Given the description of an element on the screen output the (x, y) to click on. 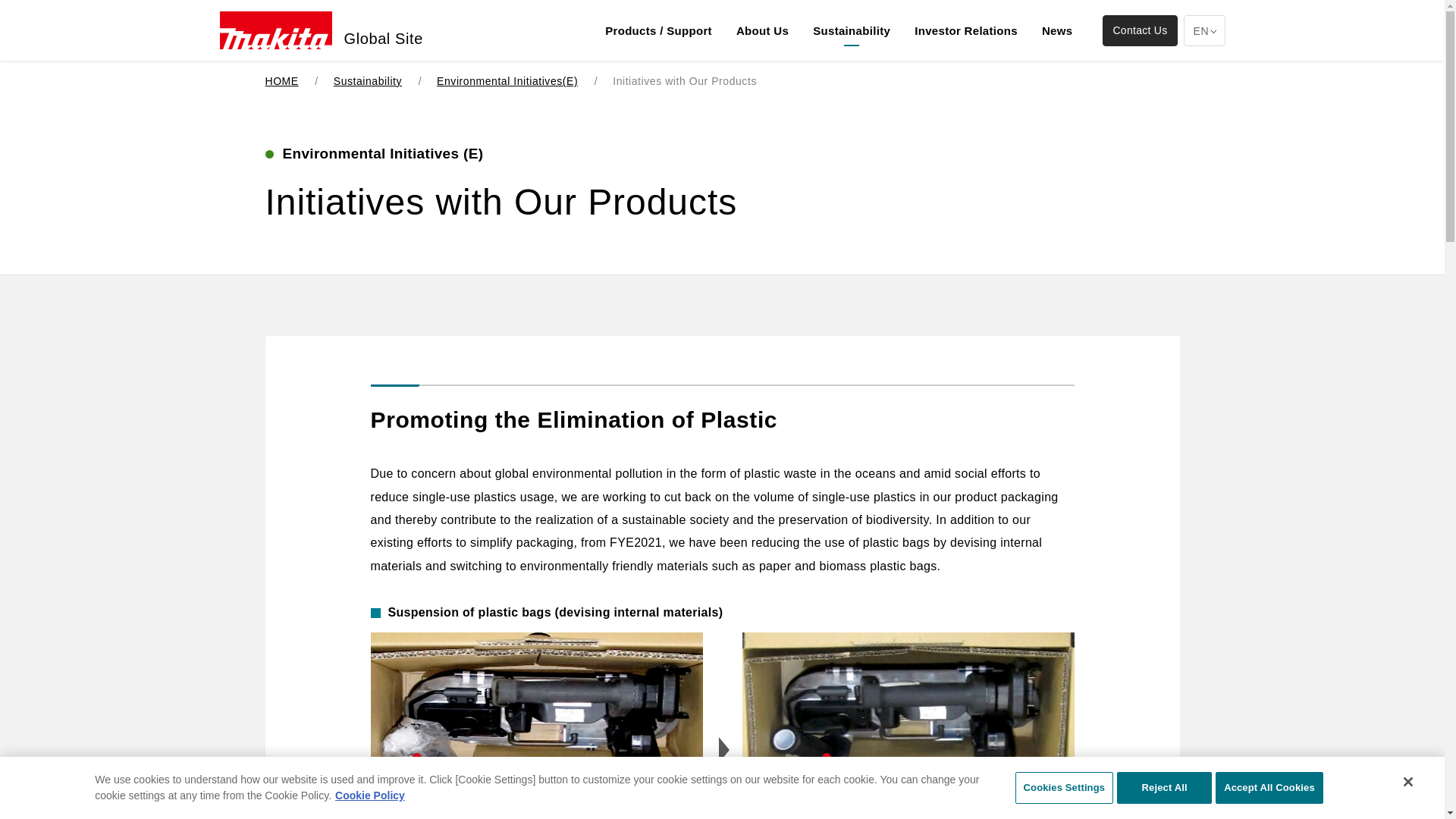
Skip to main contents (787, 71)
About Us (761, 31)
Sustainability (851, 31)
